Given the description of an element on the screen output the (x, y) to click on. 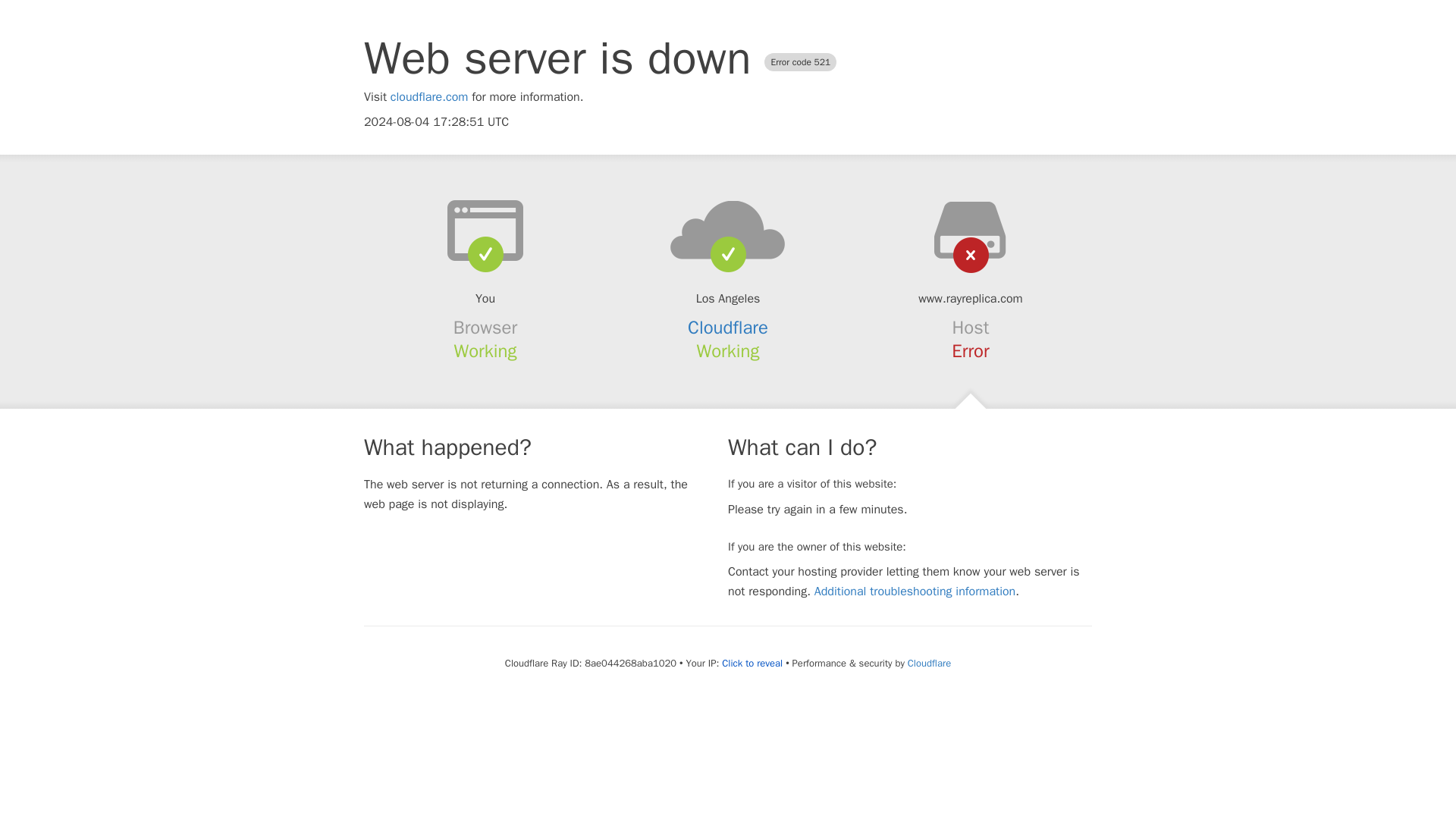
Additional troubleshooting information (913, 590)
Click to reveal (752, 663)
Cloudflare (928, 662)
cloudflare.com (429, 96)
Cloudflare (727, 327)
